Given the description of an element on the screen output the (x, y) to click on. 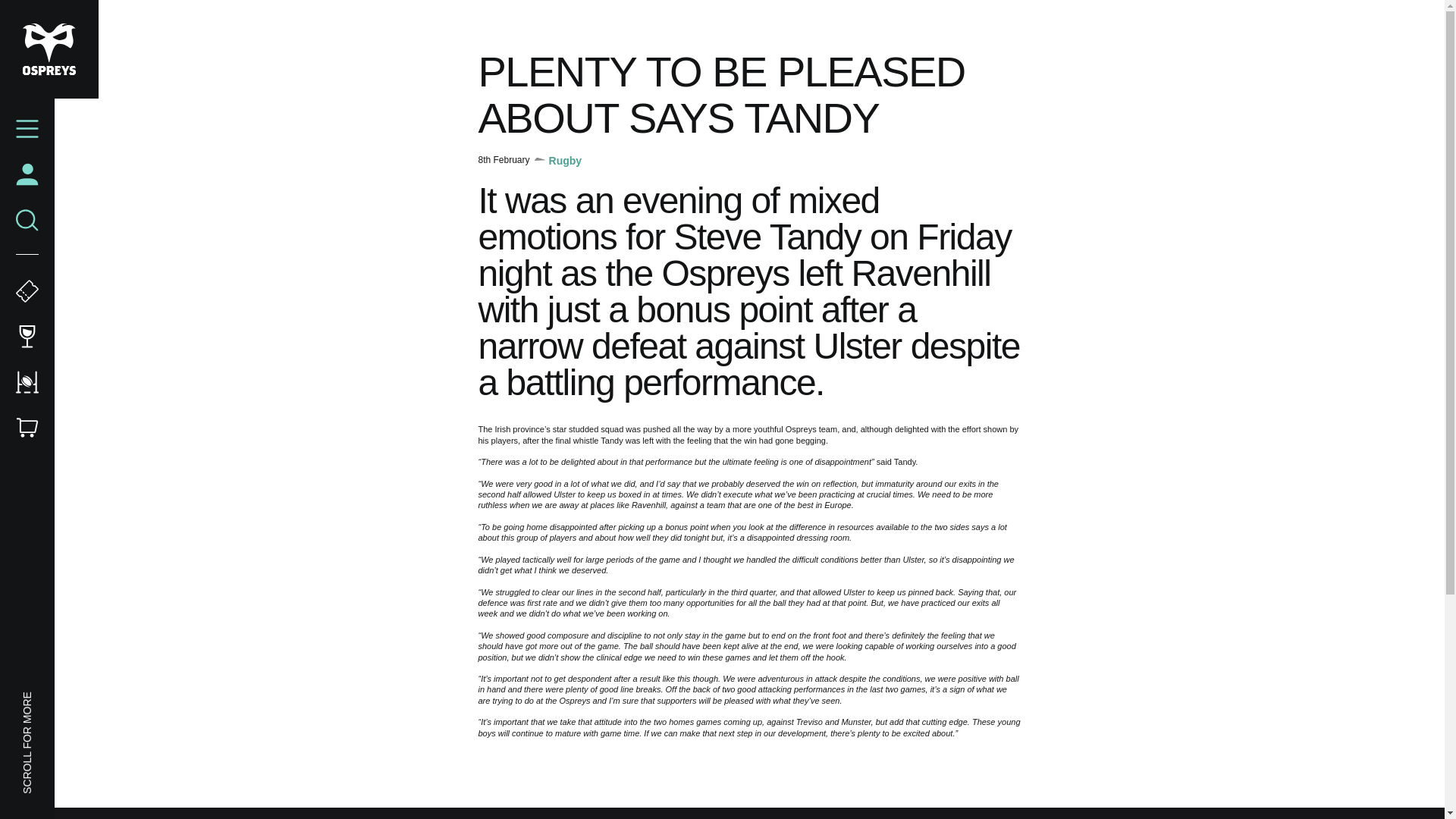
SCROLL FOR MORE (71, 699)
Menu Closed (27, 128)
Menu Closed (27, 128)
Search (27, 219)
Search (27, 219)
